Given the description of an element on the screen output the (x, y) to click on. 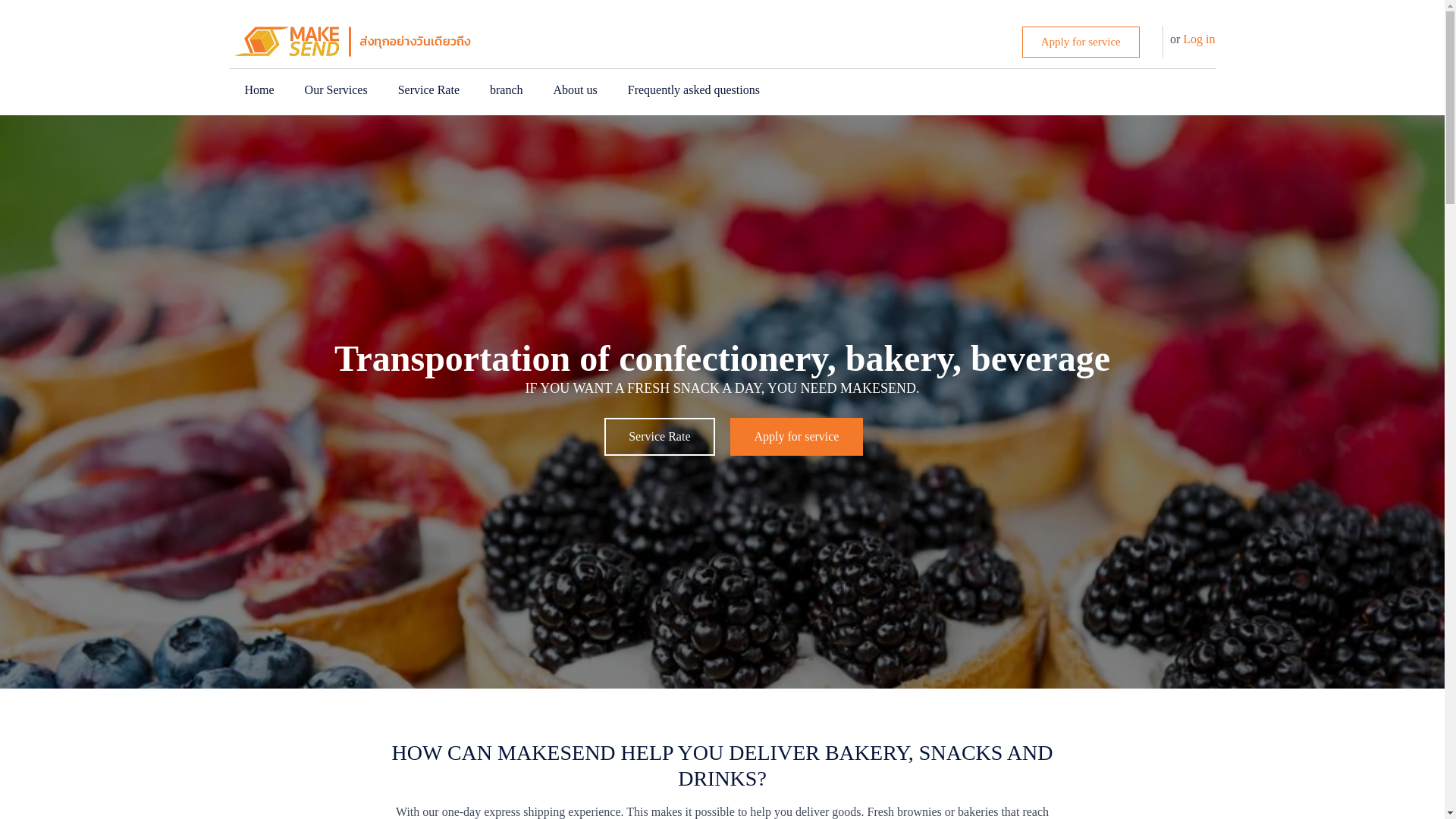
Apply for service (1081, 41)
About us (575, 89)
Frequently asked questions (693, 89)
Home (258, 89)
branch (506, 89)
Service Rate (659, 436)
Log in (1198, 38)
Apply for service (796, 436)
Service Rate (428, 89)
Our Services (335, 89)
